Given the description of an element on the screen output the (x, y) to click on. 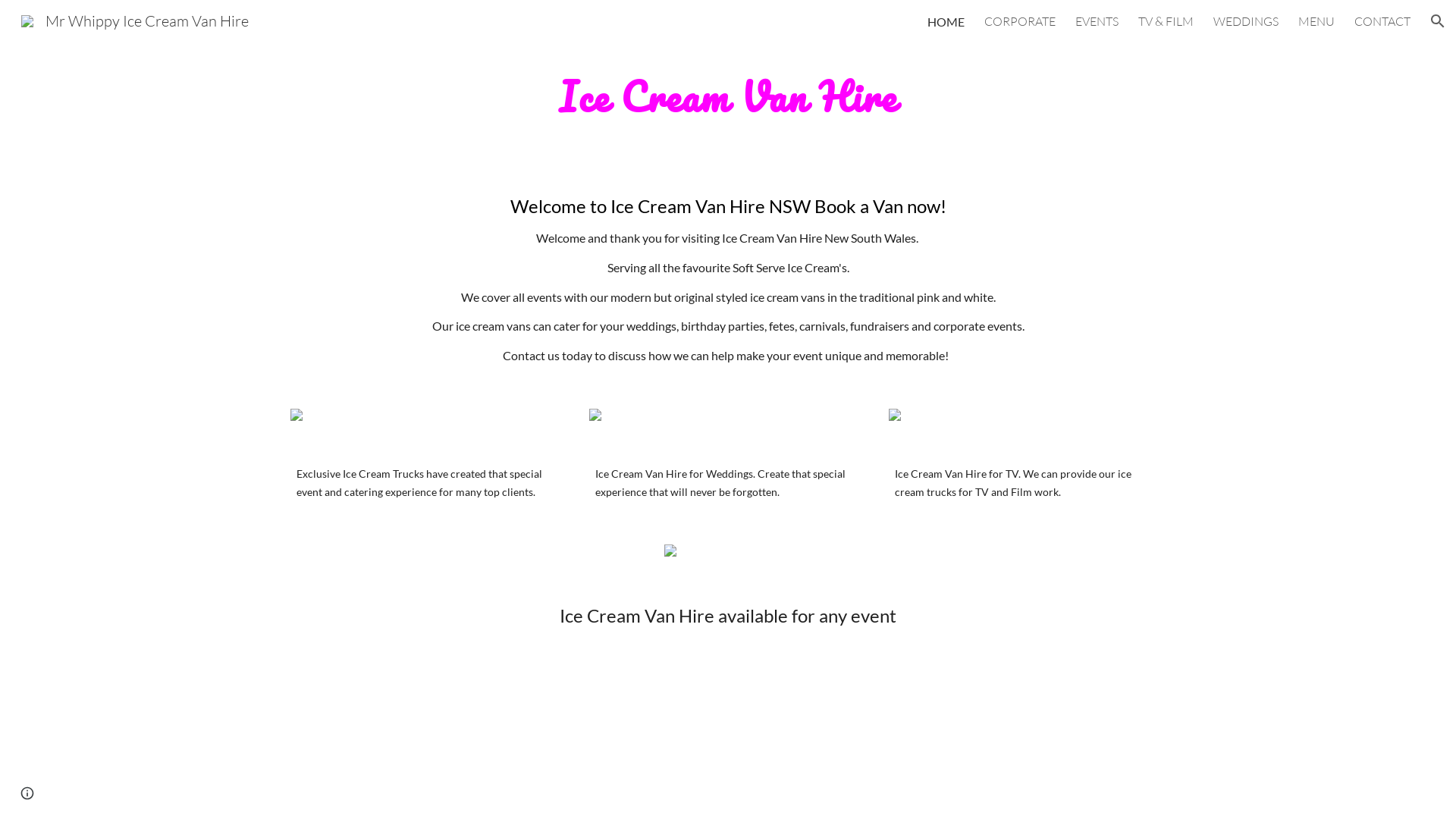
TV & FILM Element type: text (1165, 20)
MENU Element type: text (1316, 20)
EVENTS Element type: text (1096, 20)
HOME Element type: text (945, 20)
CONTACT Element type: text (1382, 20)
CORPORATE Element type: text (1019, 20)
Mr Whippy Ice Cream Van Hire Element type: text (134, 18)
WEDDINGS Element type: text (1245, 20)
